Given the description of an element on the screen output the (x, y) to click on. 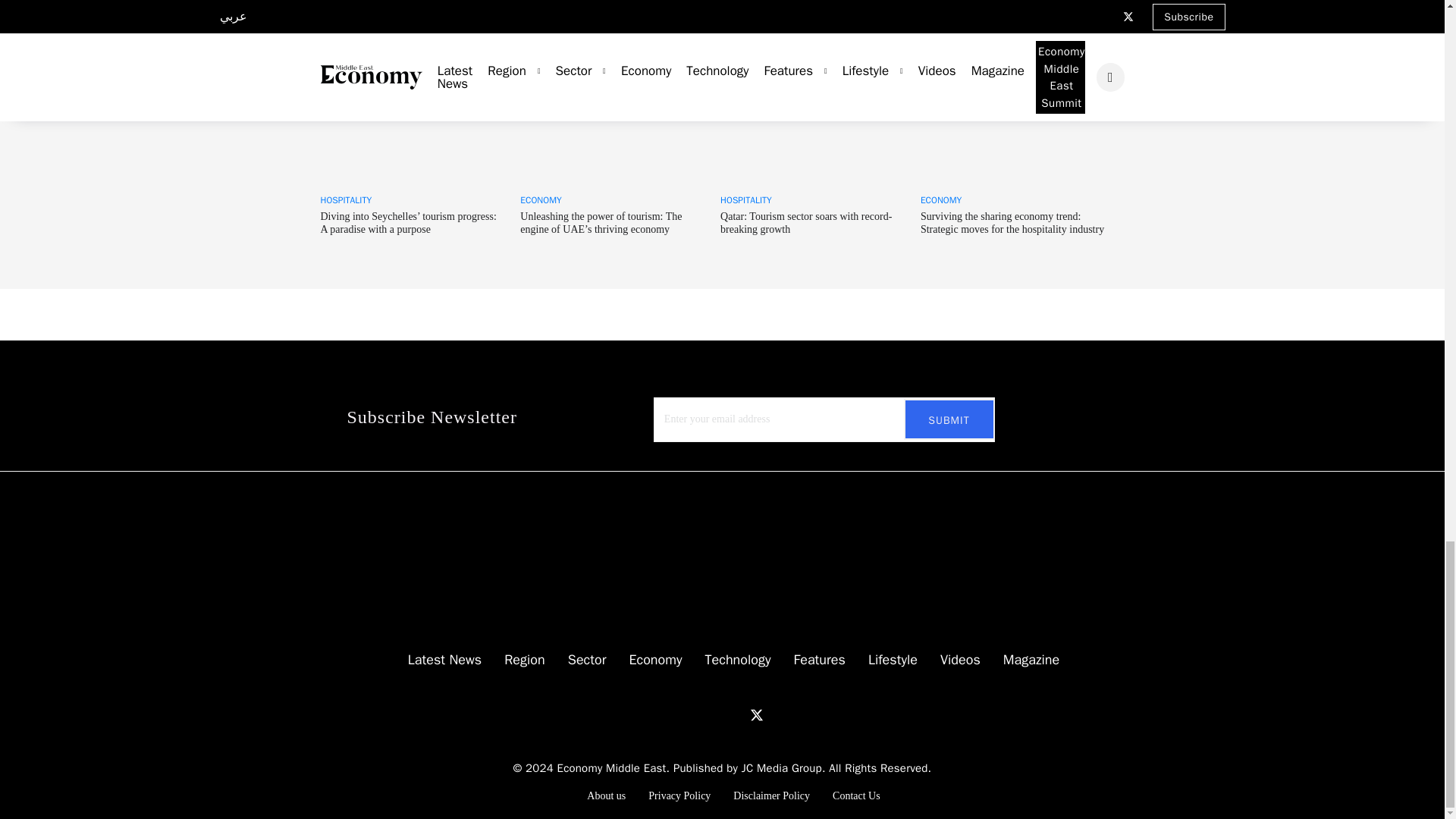
Twitter (756, 714)
YouTube (704, 707)
LinkedIn (681, 707)
Submit (949, 418)
Instagram (727, 707)
